Given the description of an element on the screen output the (x, y) to click on. 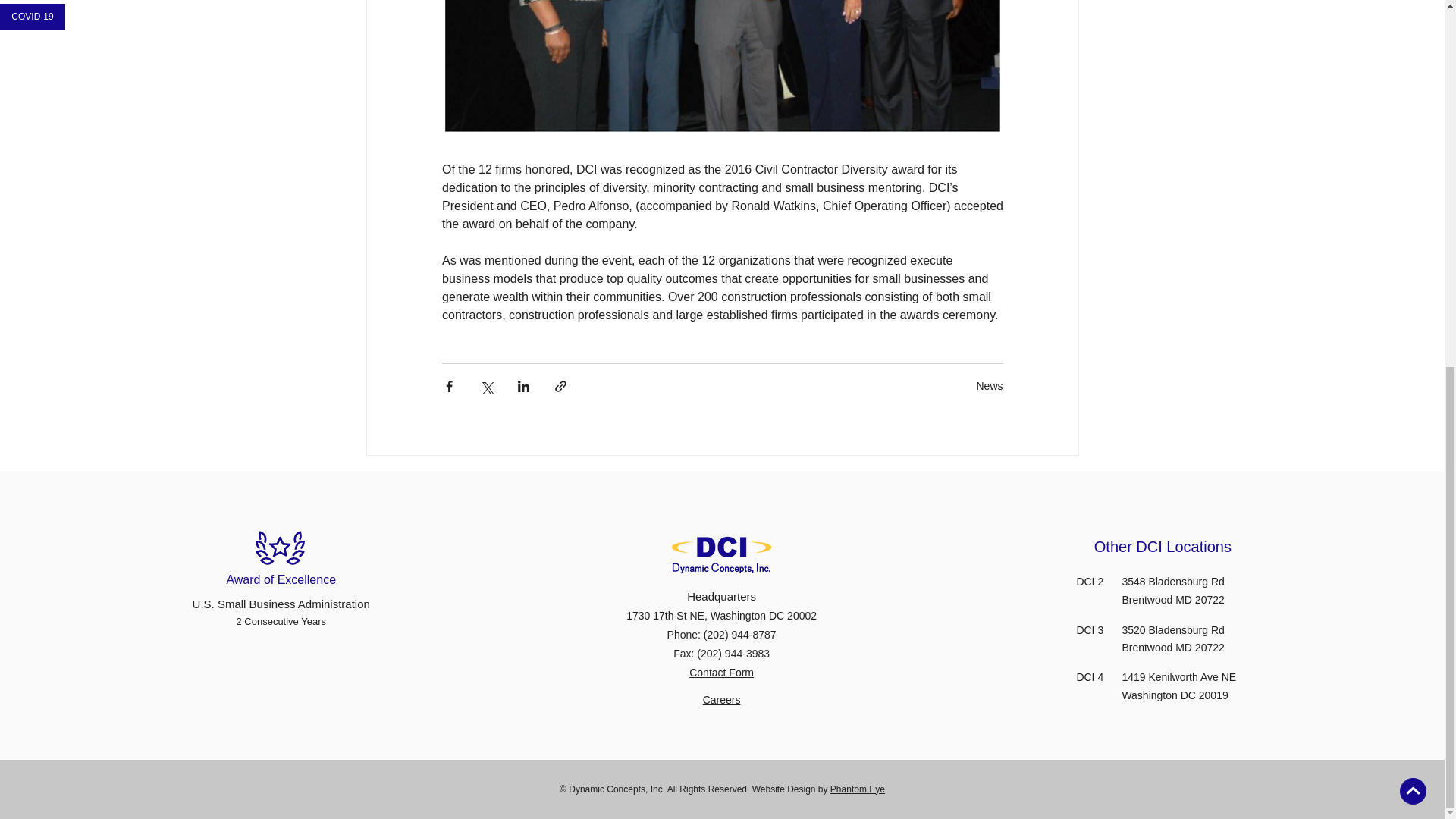
Phantom Eye (857, 788)
Contact Form (721, 672)
Website Design by (790, 788)
Careers (722, 699)
News (989, 386)
